Given the description of an element on the screen output the (x, y) to click on. 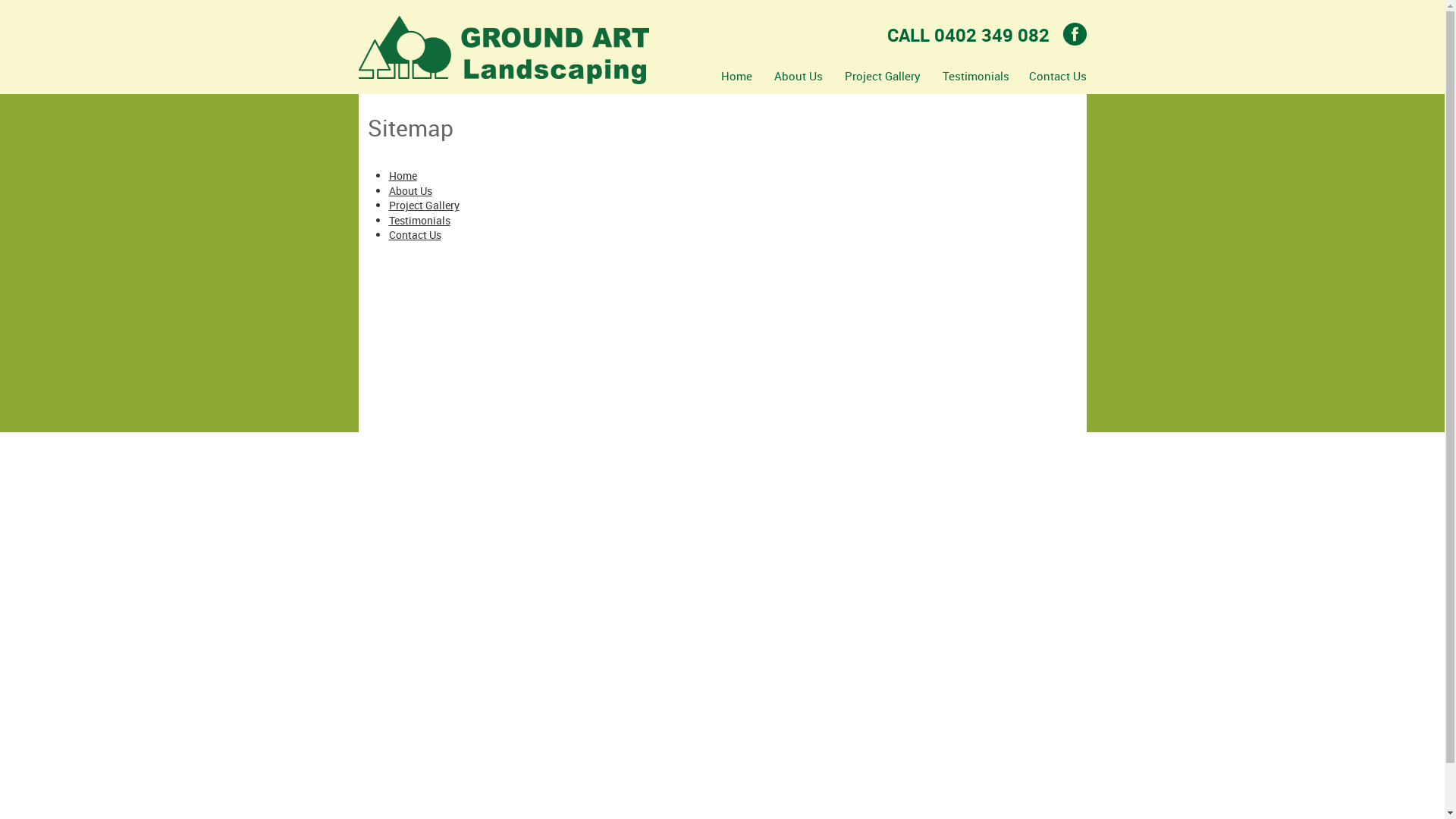
Contact Us Element type: text (1052, 76)
Contact Us Element type: text (414, 234)
About Us Element type: text (798, 76)
Project Gallery Element type: text (881, 76)
Home Element type: text (402, 175)
About Us Element type: text (409, 190)
Testimonials Element type: text (975, 76)
Testimonials Element type: text (418, 220)
Project Gallery Element type: text (423, 204)
Yeppoon and Capricorn Coast Landscaping Element type: hover (502, 49)
Home Element type: text (736, 76)
